Given the description of an element on the screen output the (x, y) to click on. 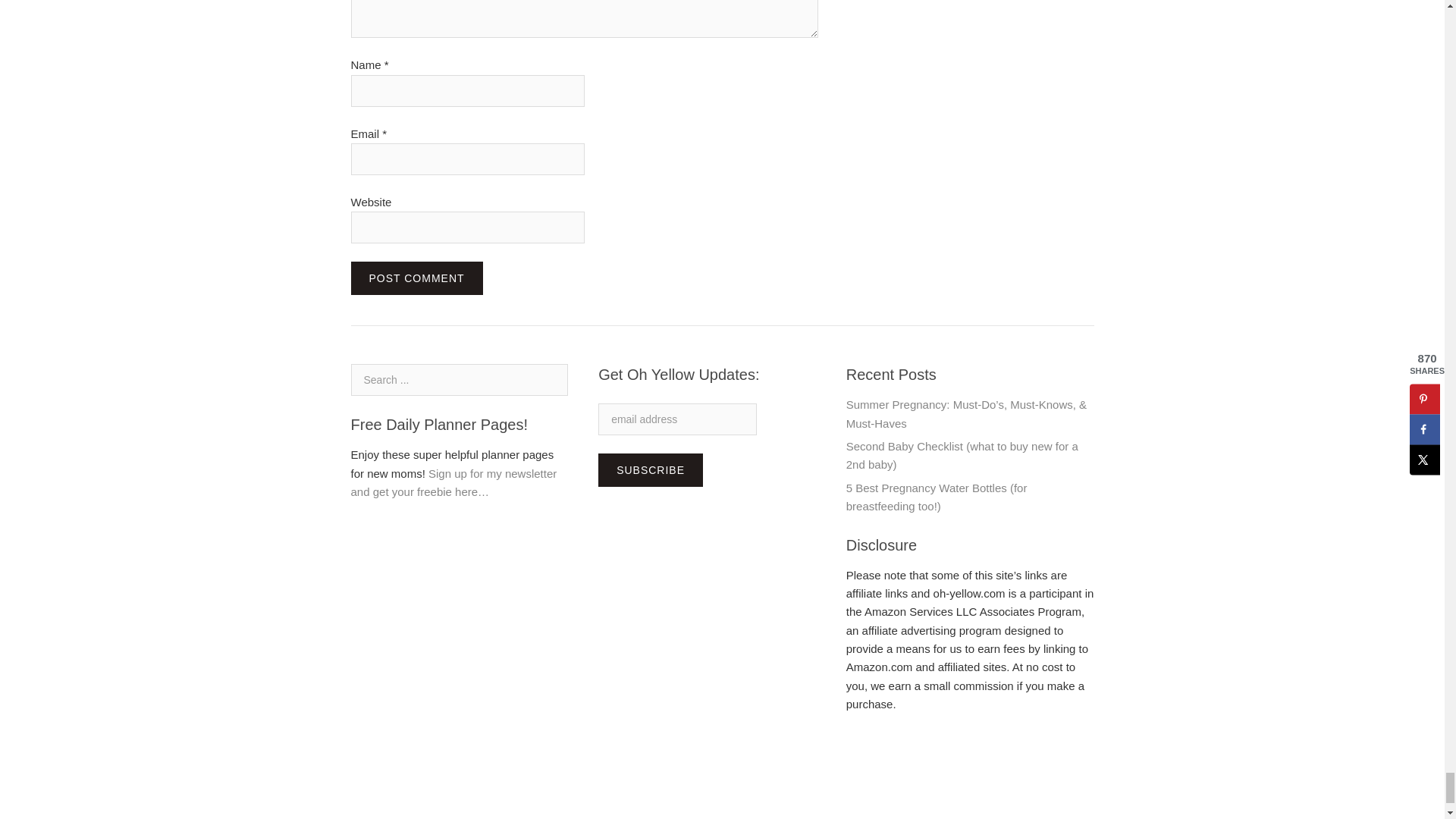
Post Comment (415, 277)
Subscribe (650, 469)
